Given the description of an element on the screen output the (x, y) to click on. 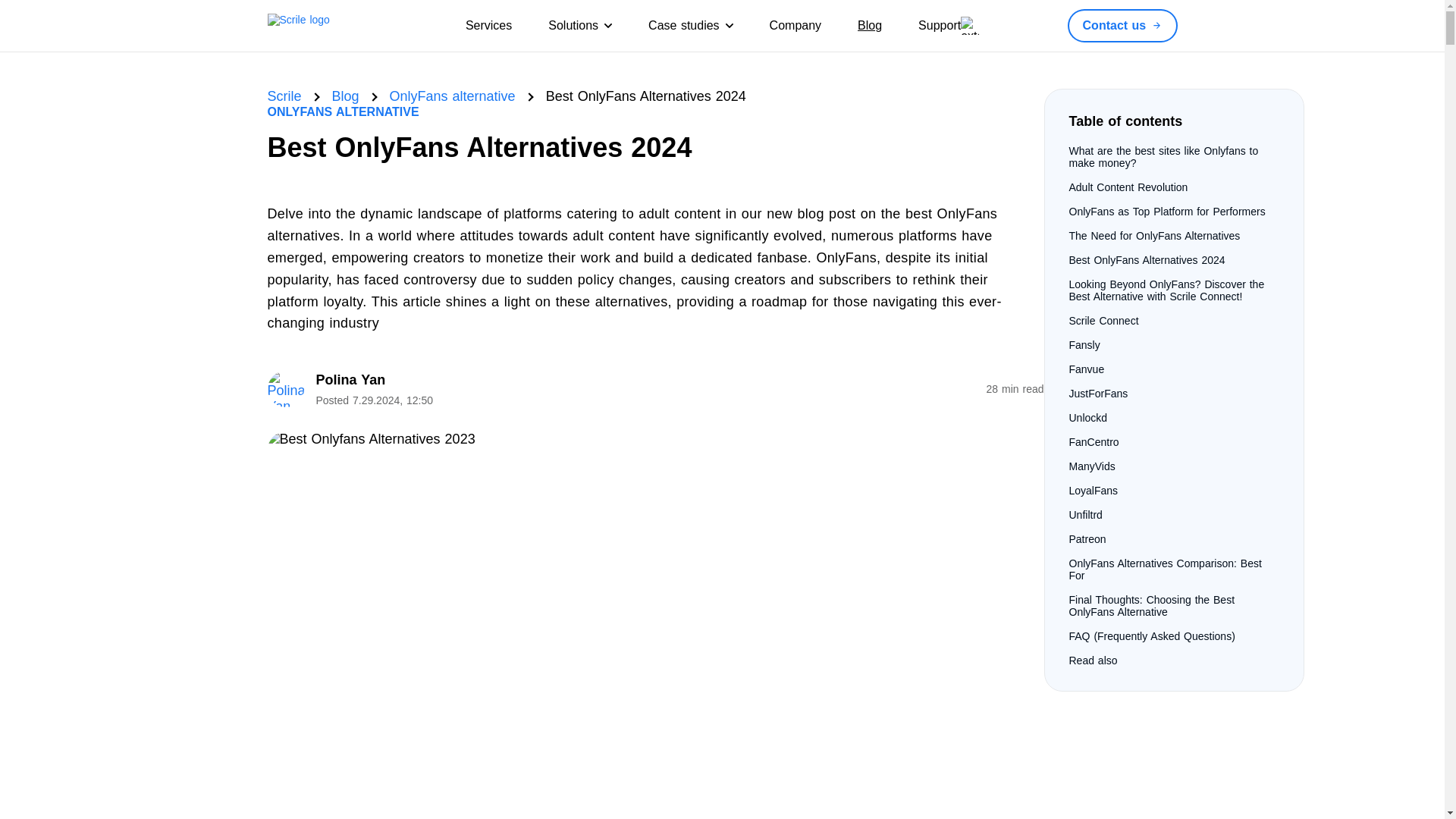
Blog (345, 96)
Support (948, 25)
Final Thoughts: Choosing the Best OnlyFans Alternative (1151, 605)
Scrile Connect (1103, 320)
Services (487, 25)
Scrile (283, 96)
FanCentro (1093, 441)
Adult Content Revolution (1128, 186)
ManyVids (1091, 466)
Unlockd (1088, 417)
LoyalFans (1093, 490)
The Need for OnlyFans Alternatives (1154, 235)
Patreon (1087, 539)
ManyVids (1091, 466)
